Given the description of an element on the screen output the (x, y) to click on. 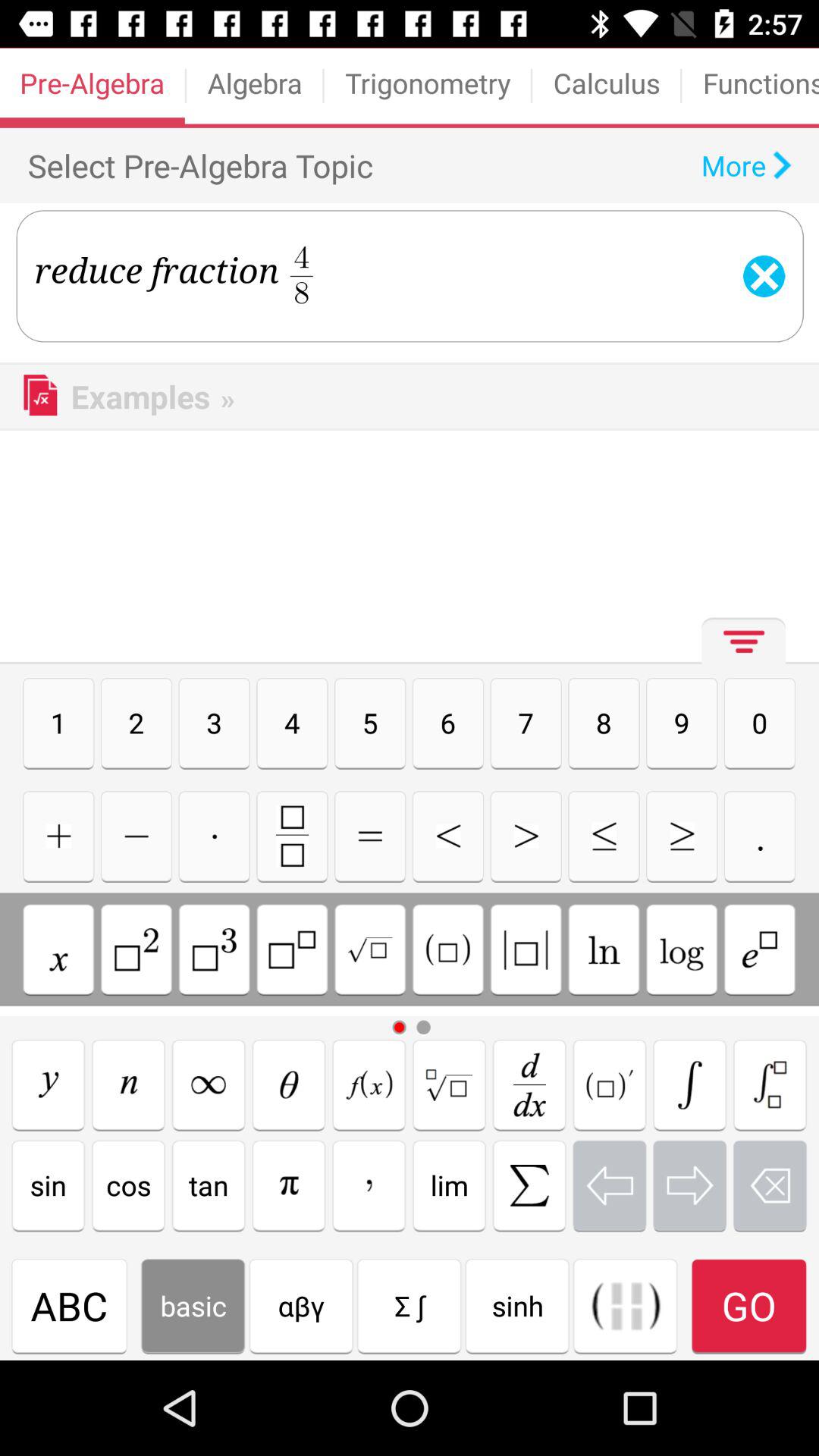
put in parentheses (448, 949)
